Given the description of an element on the screen output the (x, y) to click on. 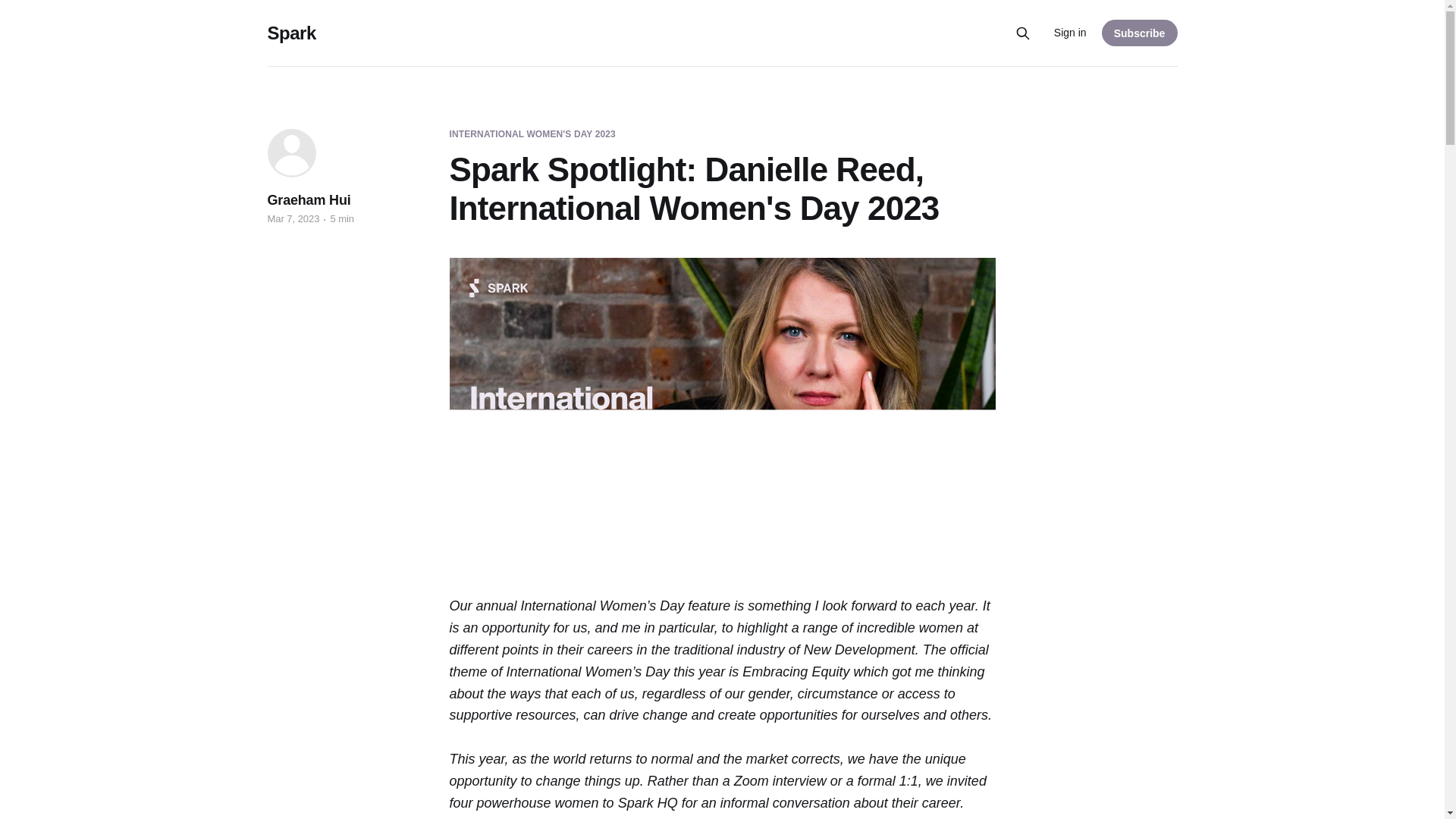
Subscribe (1139, 32)
Graeham Hui (308, 199)
Sign in (1070, 32)
Spark (290, 33)
INTERNATIONAL WOMEN'S DAY 2023 (531, 134)
